Given the description of an element on the screen output the (x, y) to click on. 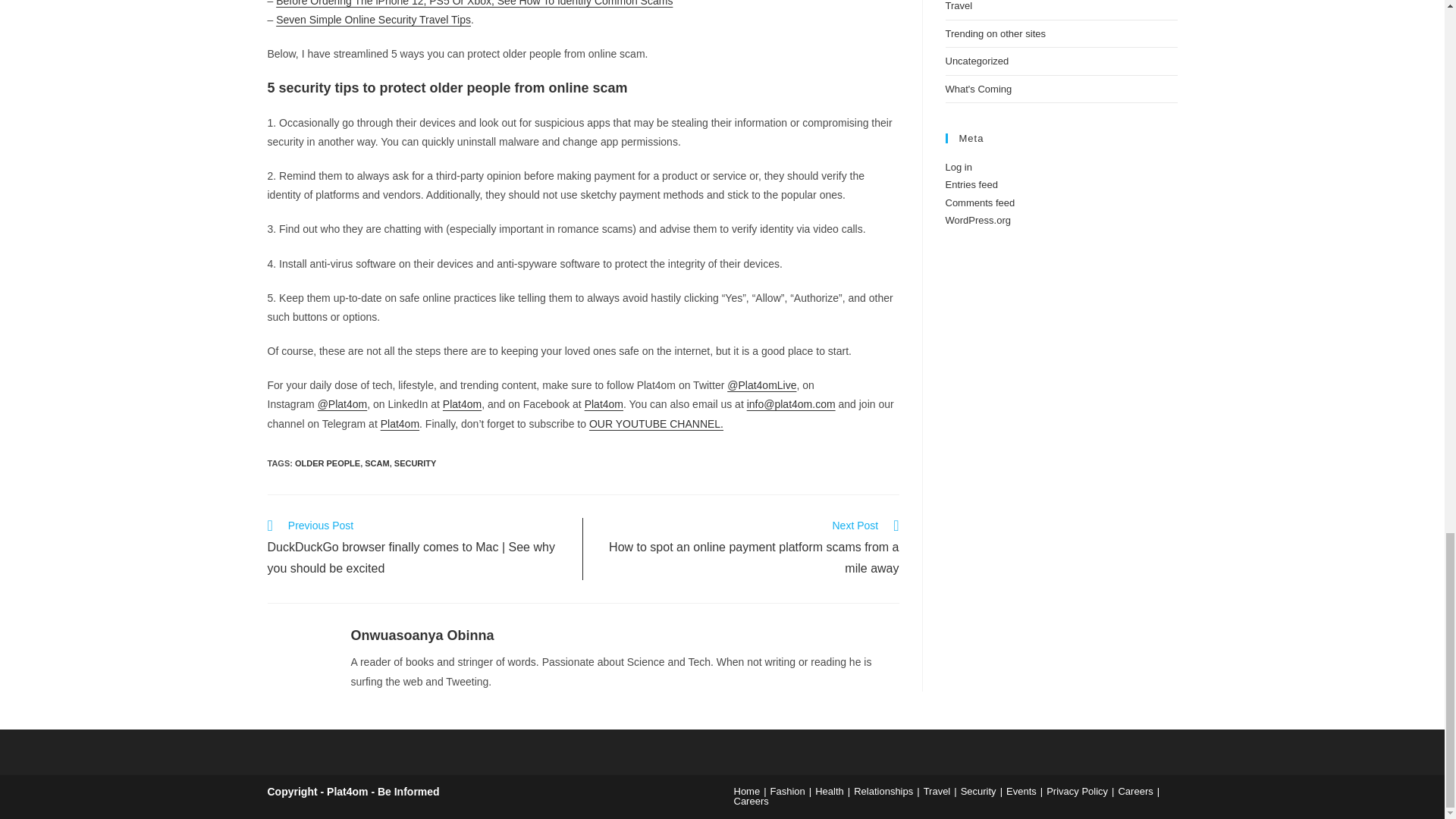
Plat4om (461, 404)
Visit author page (296, 655)
SCAM (376, 462)
Plat4om (604, 404)
Plat4om (399, 423)
OLDER PEOPLE (327, 462)
Seven Simple Online Security Travel Tips (373, 19)
Visit author page (421, 635)
SECURITY (415, 462)
OUR YOUTUBE CHANNEL. (656, 423)
